Given the description of an element on the screen output the (x, y) to click on. 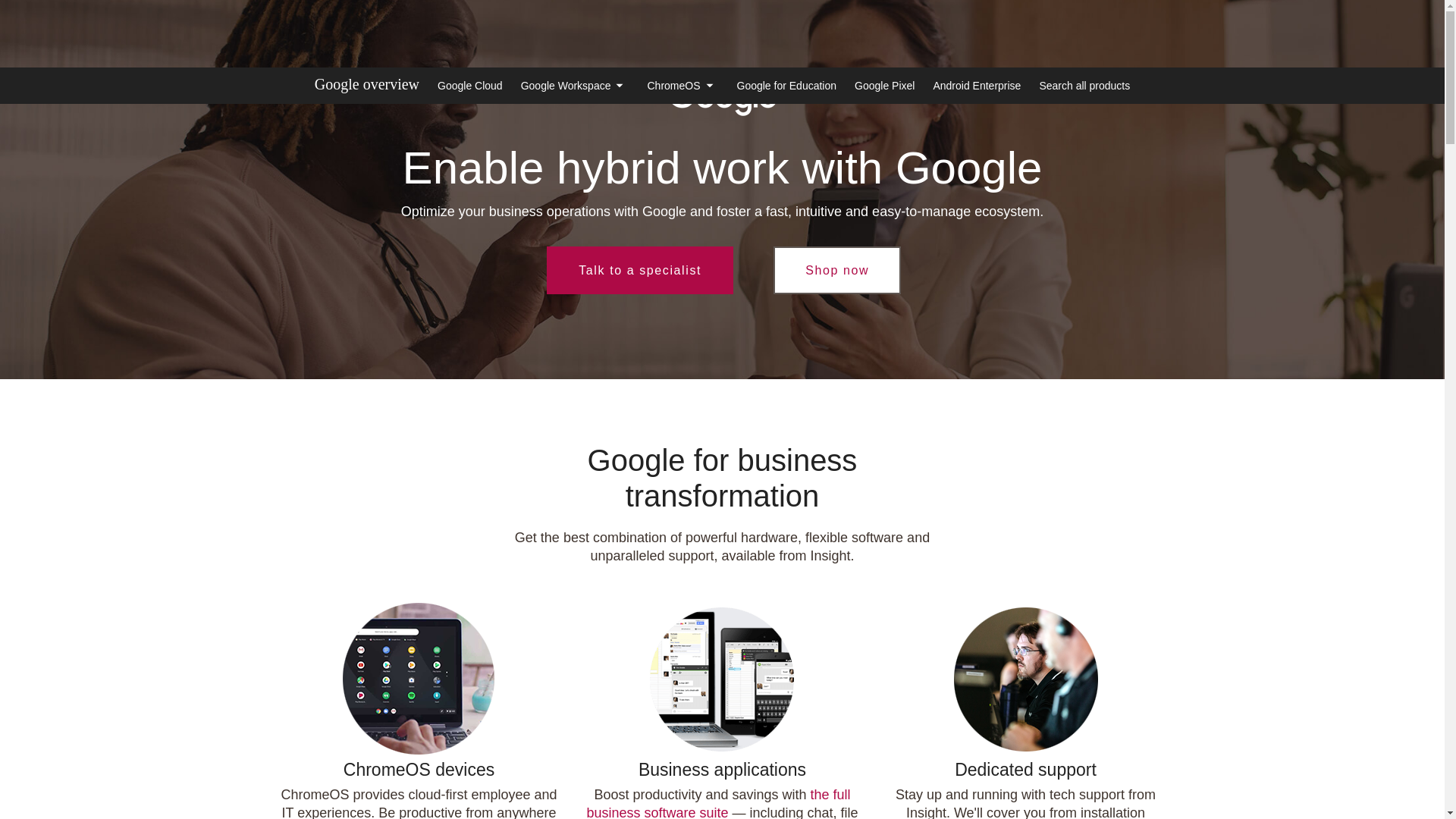
Search all products (1084, 85)
Learn more about Google Apps for Work (718, 803)
Google overview (366, 84)
Google Pixel (884, 85)
Google Workspace (574, 85)
ChromeOS (681, 85)
Android Enterprise (976, 85)
Shop now (837, 270)
Google logo (722, 98)
Google for Education (786, 85)
Google Cloud (470, 85)
Talk to a specialist (640, 270)
the full business software suite (718, 803)
